Given the description of an element on the screen output the (x, y) to click on. 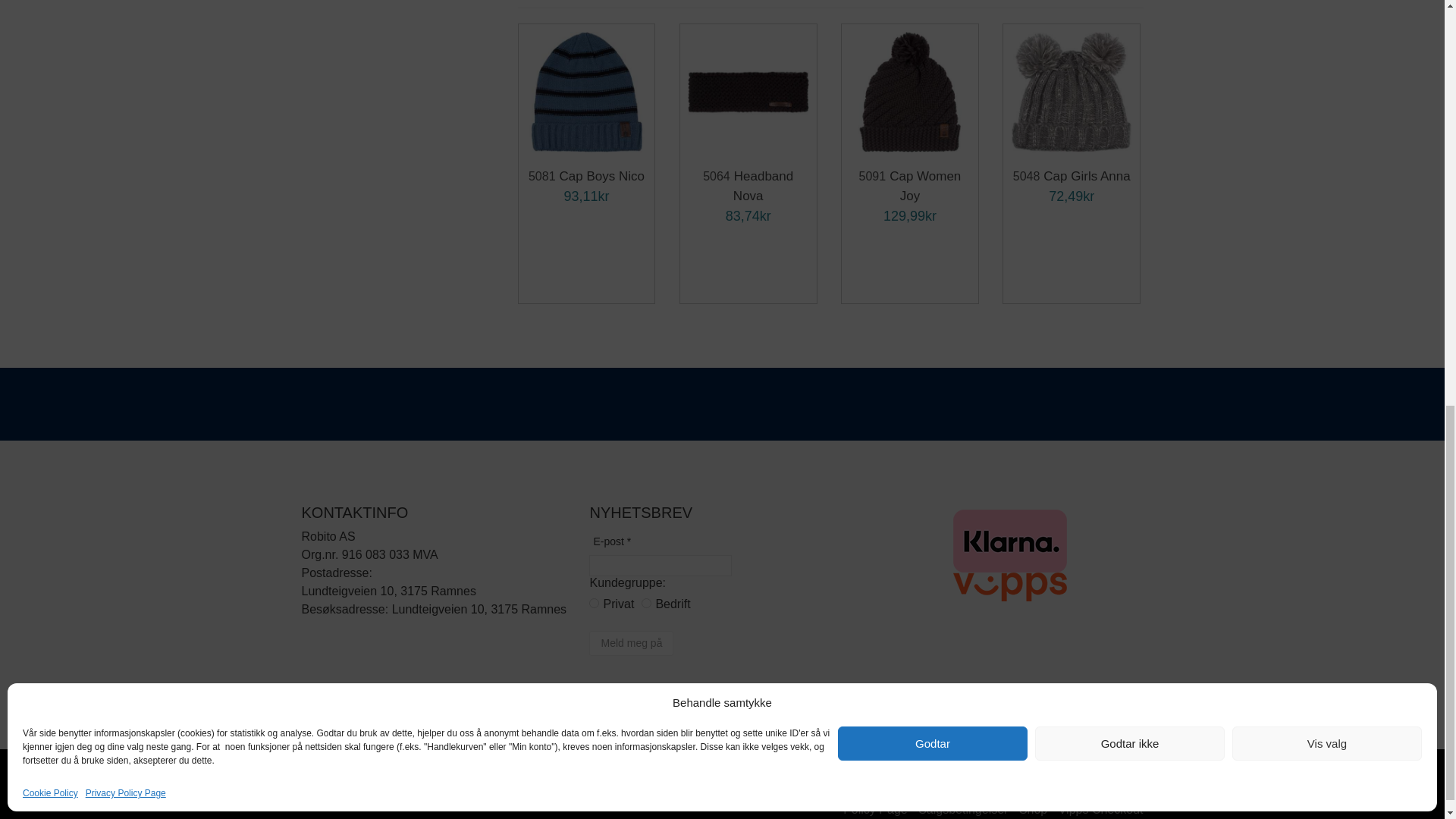
2048 (593, 603)
4096 (646, 603)
